Given the description of an element on the screen output the (x, y) to click on. 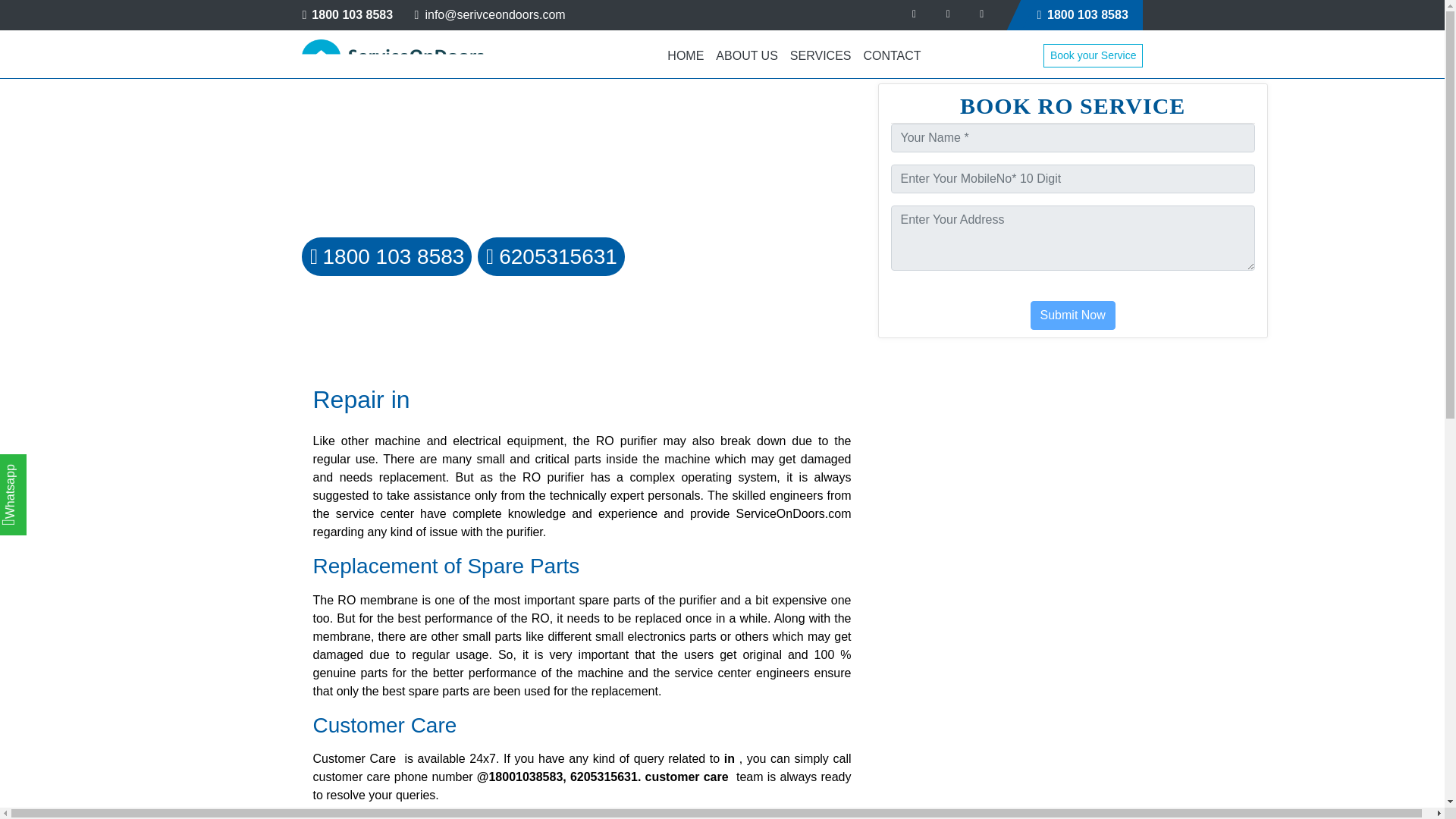
CONTACT (891, 55)
 6205315631 (550, 256)
instagram (947, 13)
ABOUT US (747, 55)
1800 103 8583 (347, 14)
HOME (685, 55)
linkedin (981, 13)
Submit Now (1072, 315)
1800 103 8583 (1082, 15)
Book your Service (1092, 55)
facebook (914, 13)
Whatsapp (37, 470)
 1800 103 8583 (386, 256)
SERVICES (820, 55)
